Given the description of an element on the screen output the (x, y) to click on. 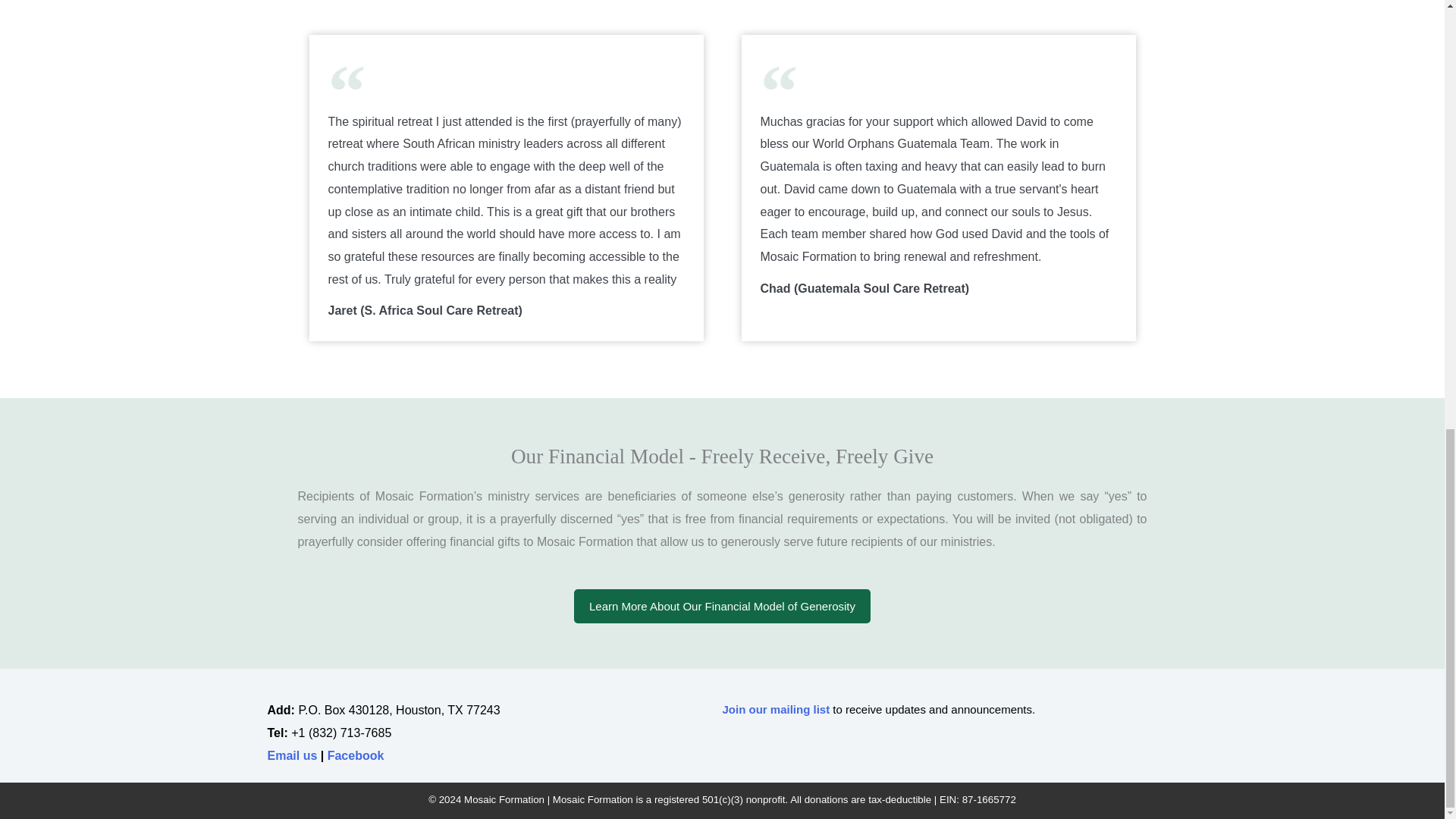
Join our mailing list (775, 708)
Learn More About Our Financial Model of Generosity (721, 605)
Email us (291, 755)
Facebook (355, 755)
